Given the description of an element on the screen output the (x, y) to click on. 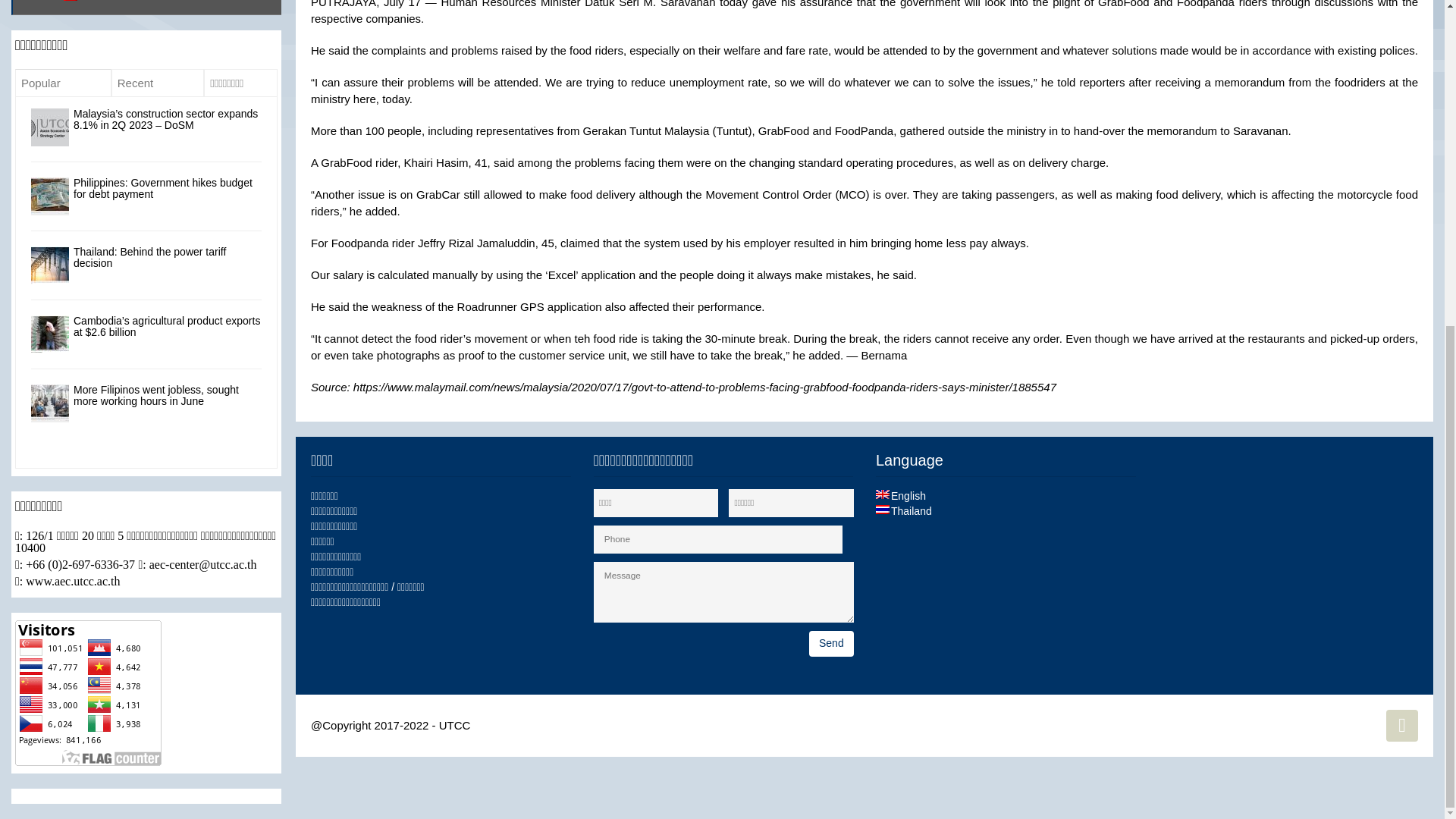
Send (831, 643)
